Given the description of an element on the screen output the (x, y) to click on. 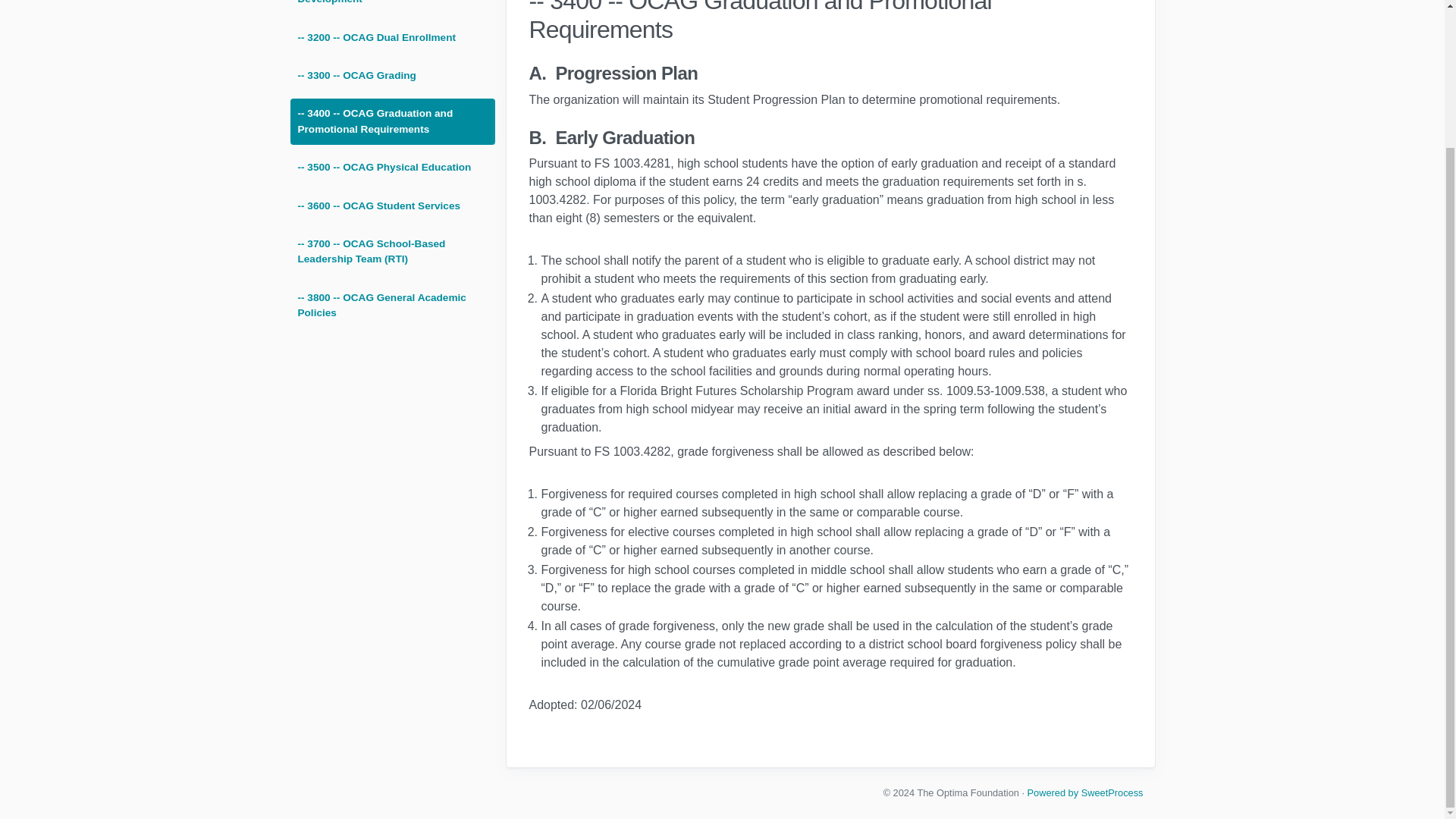
-- 3500 -- OCAG Physical Education (392, 167)
-- 3400 -- OCAG Graduation and Promotional Requirements (392, 121)
-- 3800 -- OCAG General Academic Policies (392, 305)
-- 3300 -- OCAG Grading (392, 75)
-- 3600 -- OCAG Student Services (392, 205)
-- 3100 -- OCAG Curriculum Development (392, 7)
-- 3200 -- OCAG Dual Enrollment (392, 37)
Powered by SweetProcess (1084, 792)
